Given the description of an element on the screen output the (x, y) to click on. 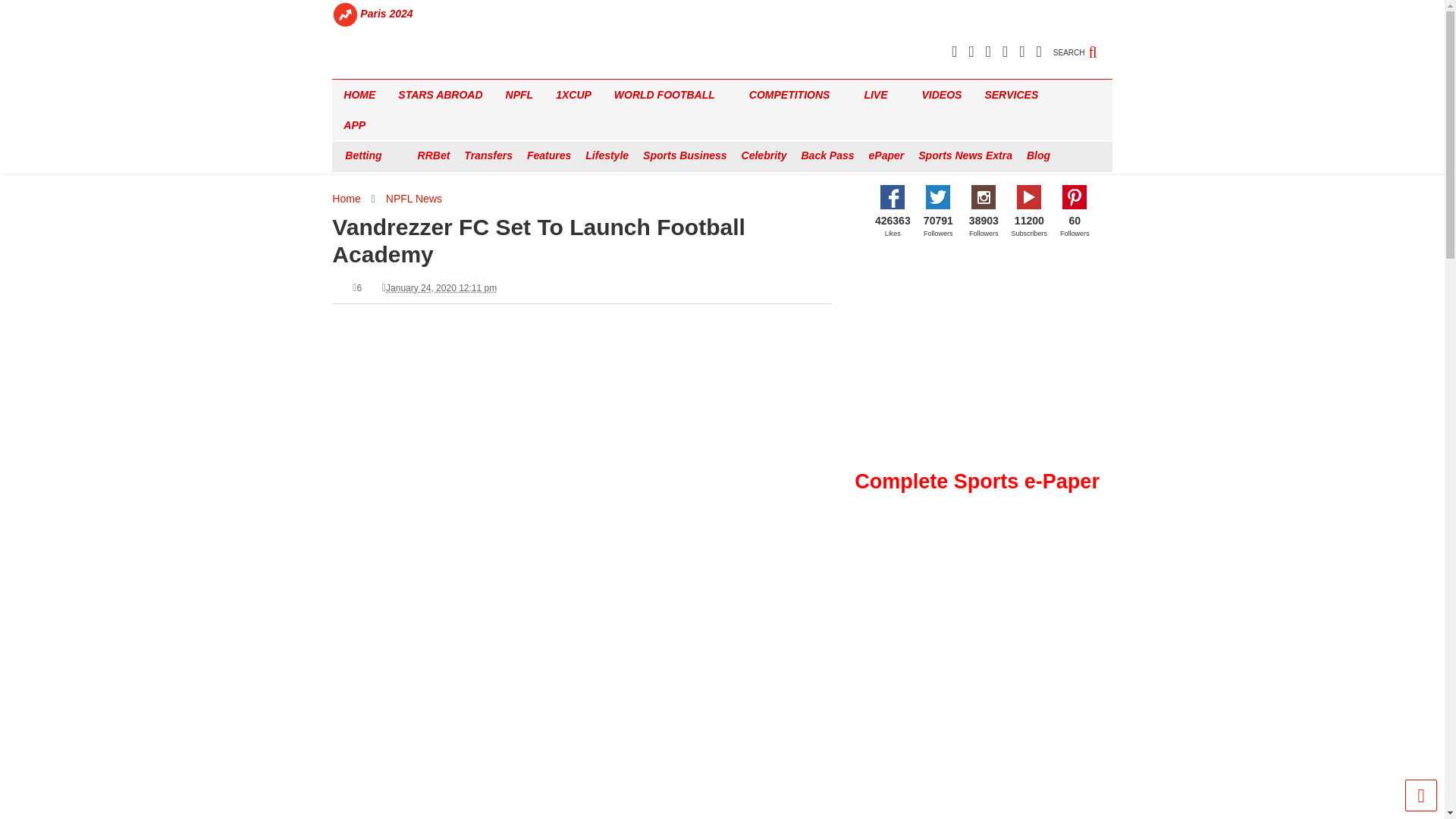
NPFL (519, 94)
HOME (359, 94)
1XCUP (573, 94)
COMPETITIONS (795, 94)
LIVE (880, 94)
Paris 2024 (386, 13)
WORLD FOOTBALL (670, 94)
Complete Sports (383, 66)
STARS ABROAD (440, 94)
